Given the description of an element on the screen output the (x, y) to click on. 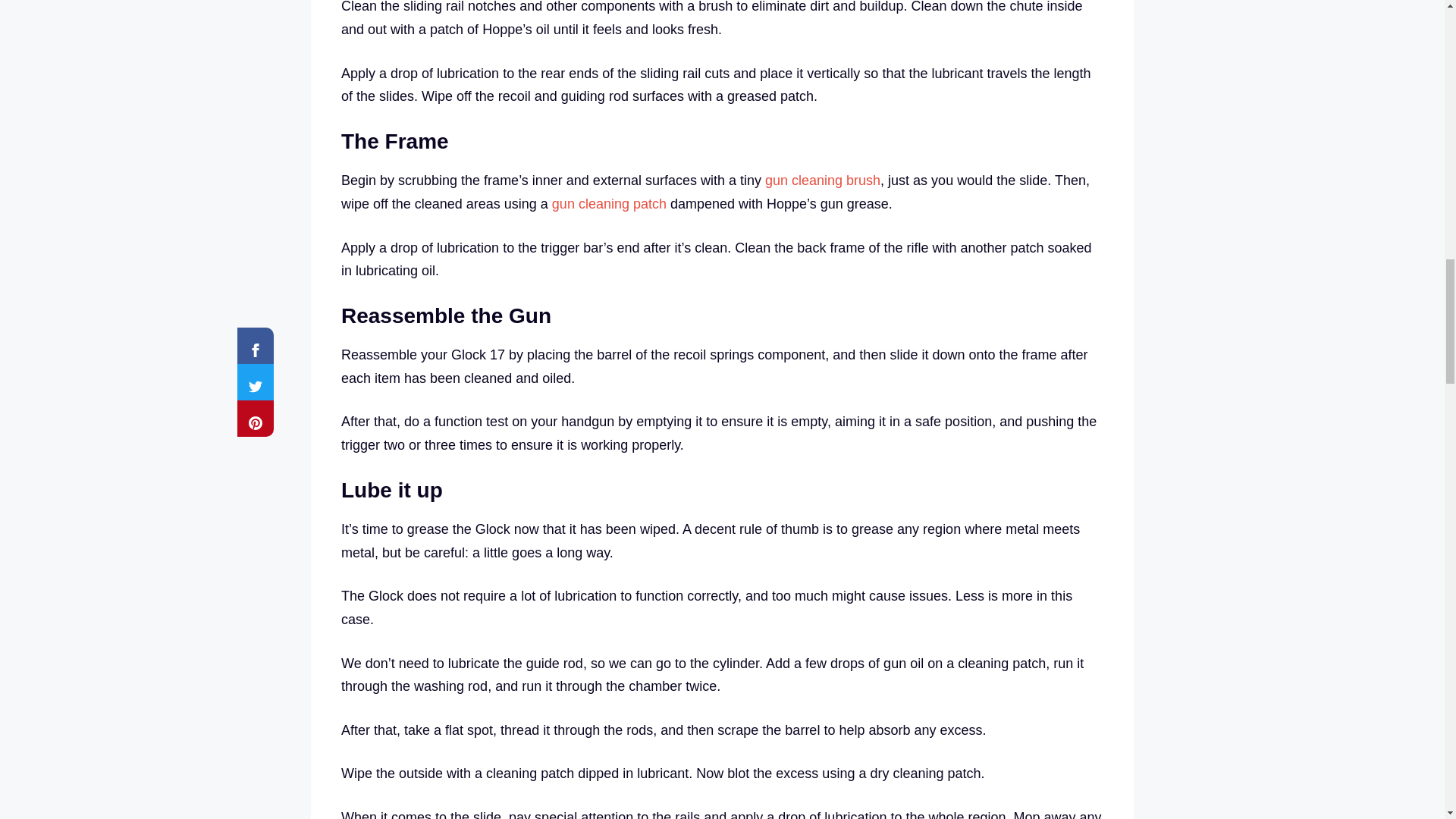
gun cleaning brush (822, 180)
gun cleaning patch (608, 203)
